Given the description of an element on the screen output the (x, y) to click on. 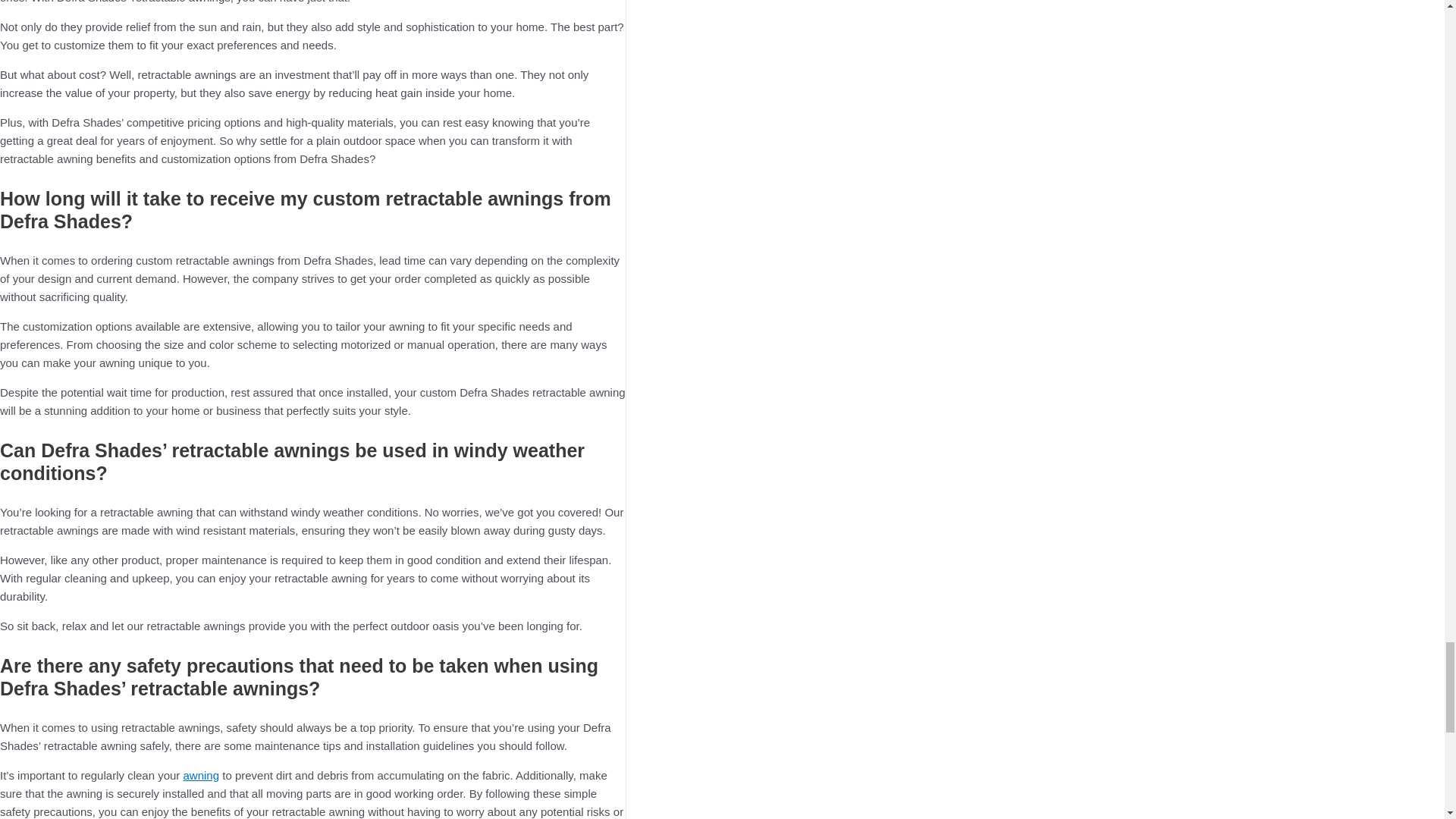
awning (201, 775)
